Given the description of an element on the screen output the (x, y) to click on. 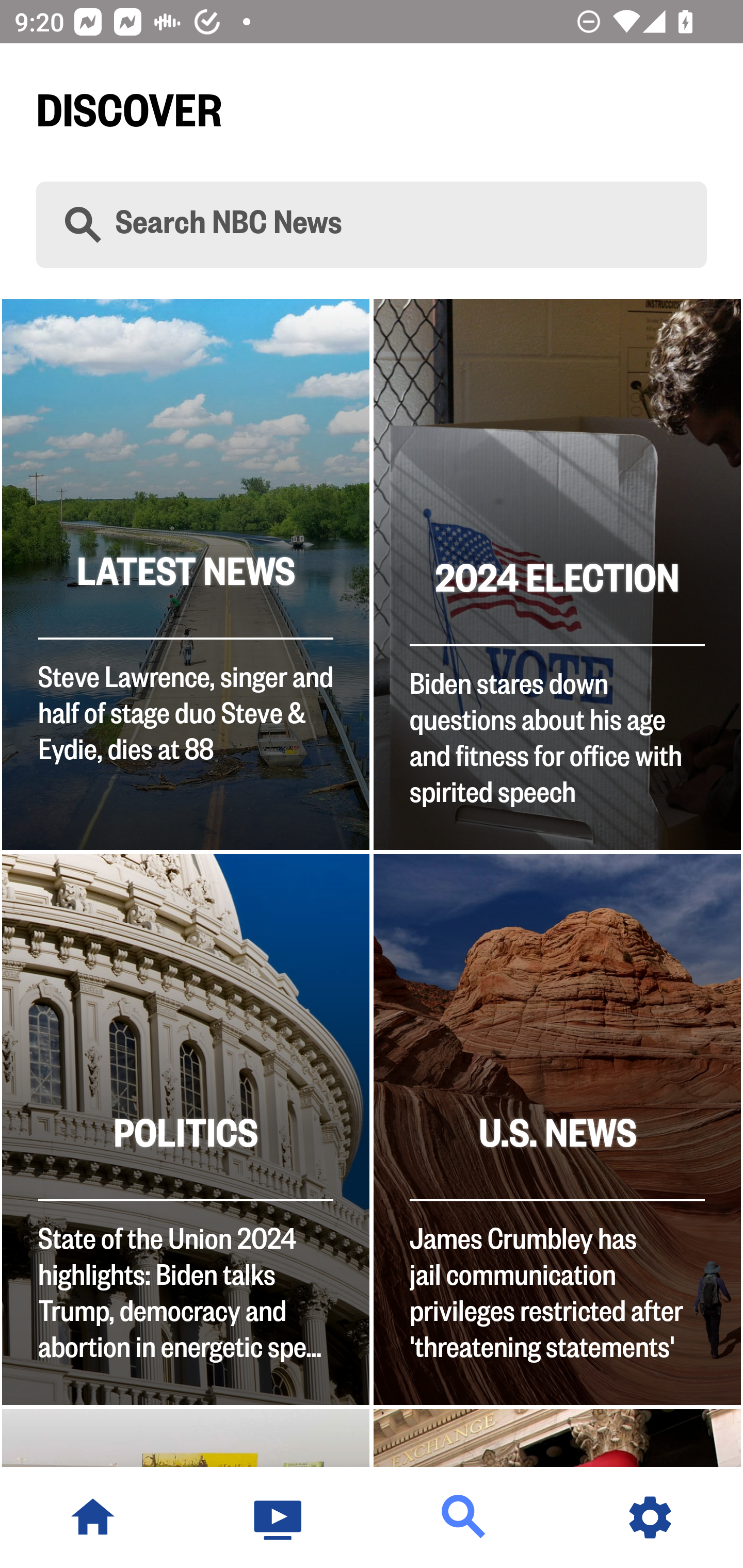
NBC News Home (92, 1517)
Watch (278, 1517)
Settings (650, 1517)
